Given the description of an element on the screen output the (x, y) to click on. 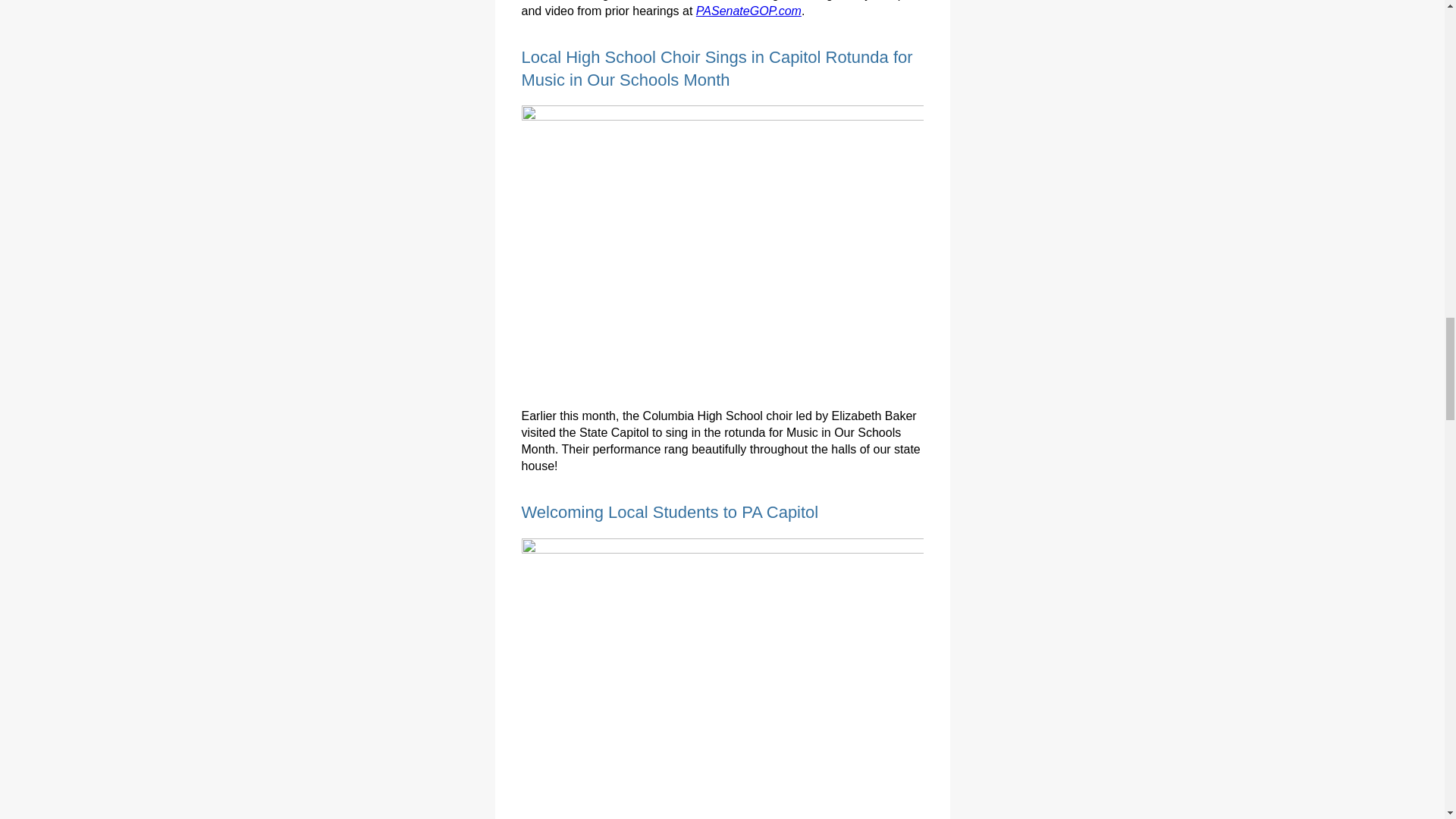
PASenateGOP.com (748, 10)
